Given the description of an element on the screen output the (x, y) to click on. 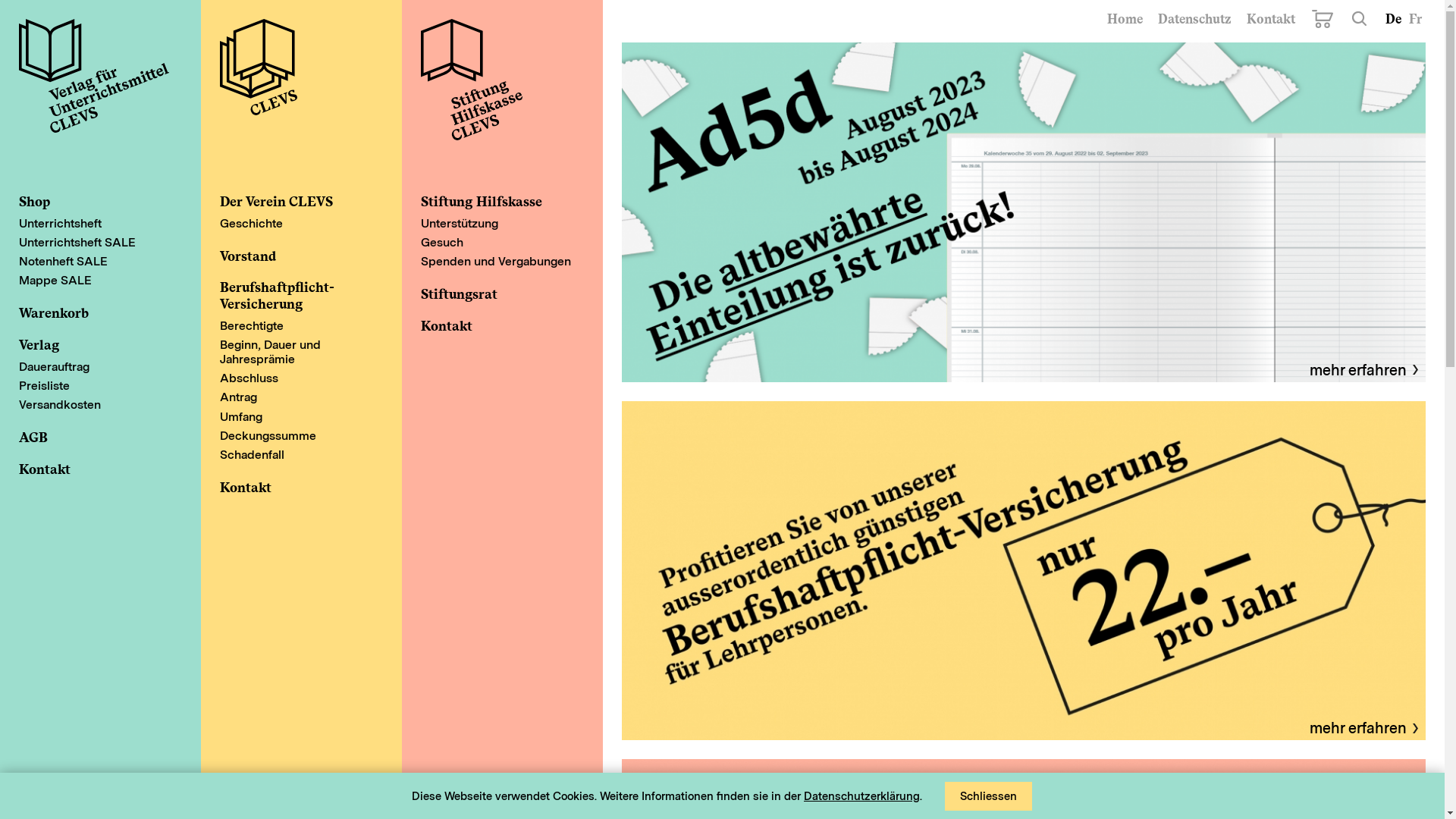
Umfang Element type: text (300, 415)
Datenschutz Element type: text (1194, 18)
Verlag Element type: text (92, 344)
Stiftung Hilfskasse CLEVS Element type: hover (471, 79)
mehr erfahren Element type: text (1023, 570)
mehr erfahren Element type: text (1363, 727)
Unterrichtsmittel CLEVS Element type: hover (93, 79)
Stiftung Hilfskasse Element type: text (494, 201)
Stiftungsrat Element type: text (494, 294)
Der Verein CLEVS Element type: text (293, 201)
Gesuch Element type: text (501, 241)
Verein CLEVS Element type: hover (258, 79)
Shop Element type: text (92, 201)
Geschichte Element type: text (300, 222)
Versandkosten Element type: text (100, 404)
Kontakt Element type: text (1270, 18)
Unterrichtsheft SALE Element type: text (100, 241)
Verein CLEVS Element type: text (300, 94)
Vorstand Element type: text (293, 256)
De Element type: text (1393, 18)
Stiftung Hilfskasse CLEVS Element type: text (501, 94)
Schadenfall Element type: text (300, 454)
Warenkorb Element type: text (1322, 18)
Deckungssumme Element type: text (300, 435)
Kontakt Element type: text (92, 469)
Antrag Element type: text (300, 396)
Warenkorb Element type: text (92, 313)
Abschluss Element type: text (300, 377)
Notenheft SALE Element type: text (100, 260)
Dauerauftrag Element type: text (100, 366)
mehr erfahren Element type: text (1023, 212)
Mappe SALE Element type: text (100, 279)
Suchen Element type: text (1359, 18)
Berufshaftpflicht-Versicherung Element type: text (293, 295)
Berechtigte Element type: text (300, 325)
mehr erfahren Element type: text (1363, 369)
Fr Element type: text (1415, 18)
Unterrichtsmittel CLEVS Element type: text (100, 94)
Kontakt Element type: text (494, 325)
Spenden und Vergabungen Element type: text (501, 260)
Kontakt Element type: text (293, 487)
AGB Element type: text (92, 437)
Schliessen Element type: text (988, 796)
Preisliste Element type: text (100, 385)
Home Element type: text (1124, 18)
